Given the description of an element on the screen output the (x, y) to click on. 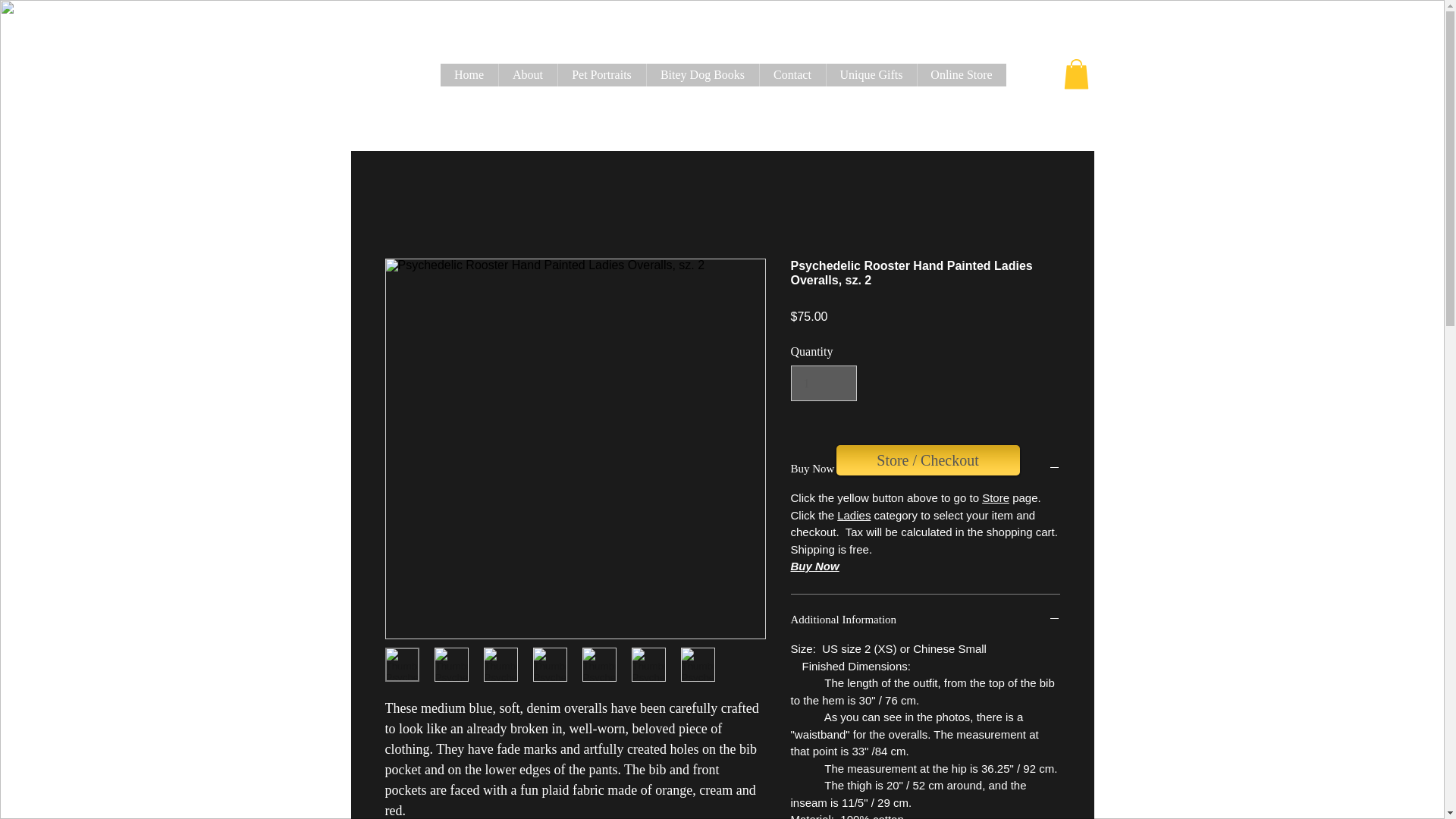
Store (995, 497)
Additional Information (924, 620)
1 (823, 382)
Online Store (960, 74)
Buy Now (814, 565)
Contact (791, 74)
Pet Portraits (600, 74)
Home (468, 74)
Unique Gifts (870, 74)
Bitey Dog Books (702, 74)
